Given the description of an element on the screen output the (x, y) to click on. 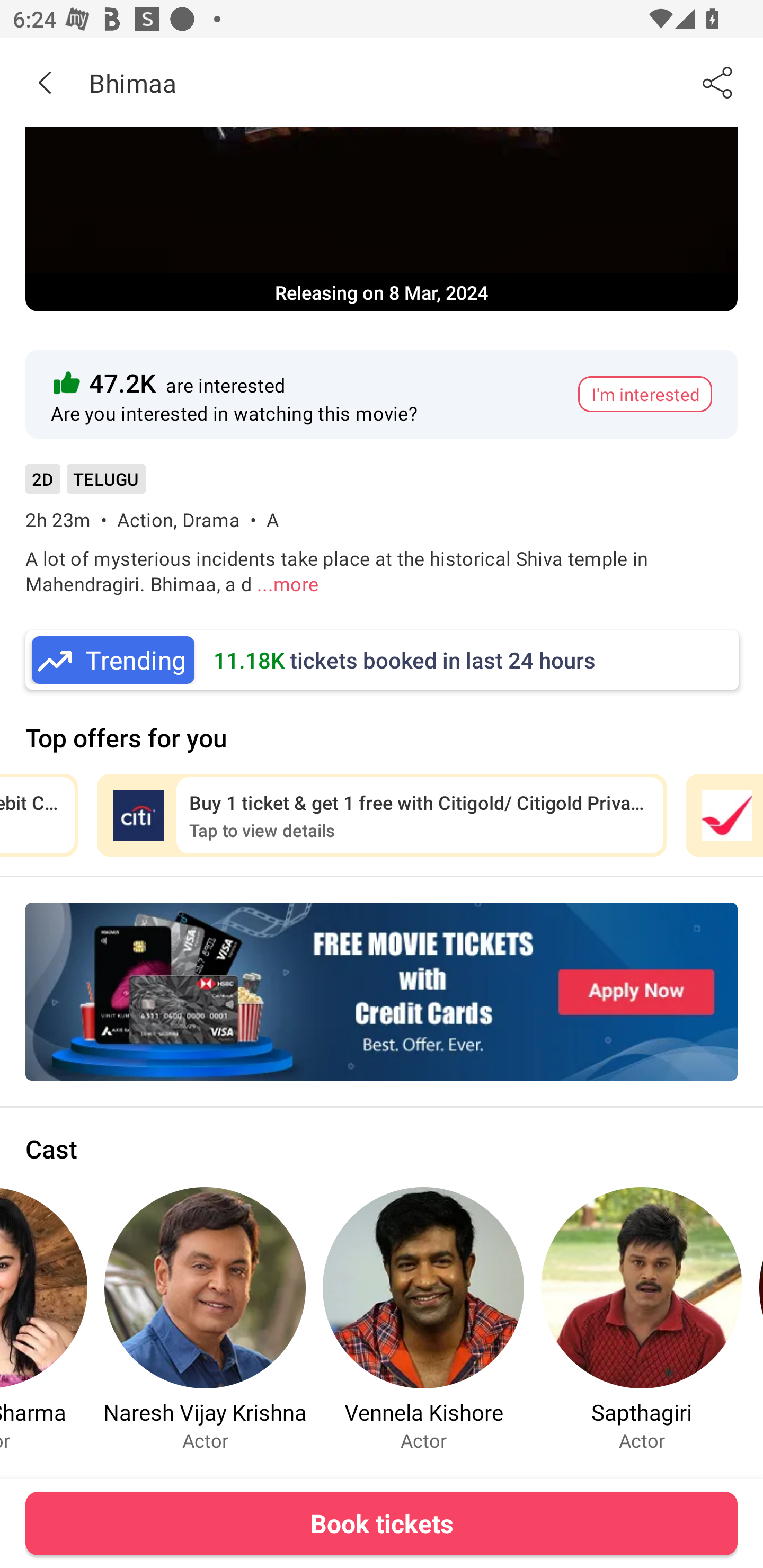
Back (44, 82)
Share (718, 82)
Movie Banner Releasing on 8 Mar, 2024 (381, 219)
I'm interested (644, 394)
2D TELUGU (85, 485)
Naresh Vijay Krishna Actor (204, 1319)
Vennela Kishore Actor (423, 1319)
Sapthagiri Actor (641, 1319)
Book tickets (381, 1523)
